Given the description of an element on the screen output the (x, y) to click on. 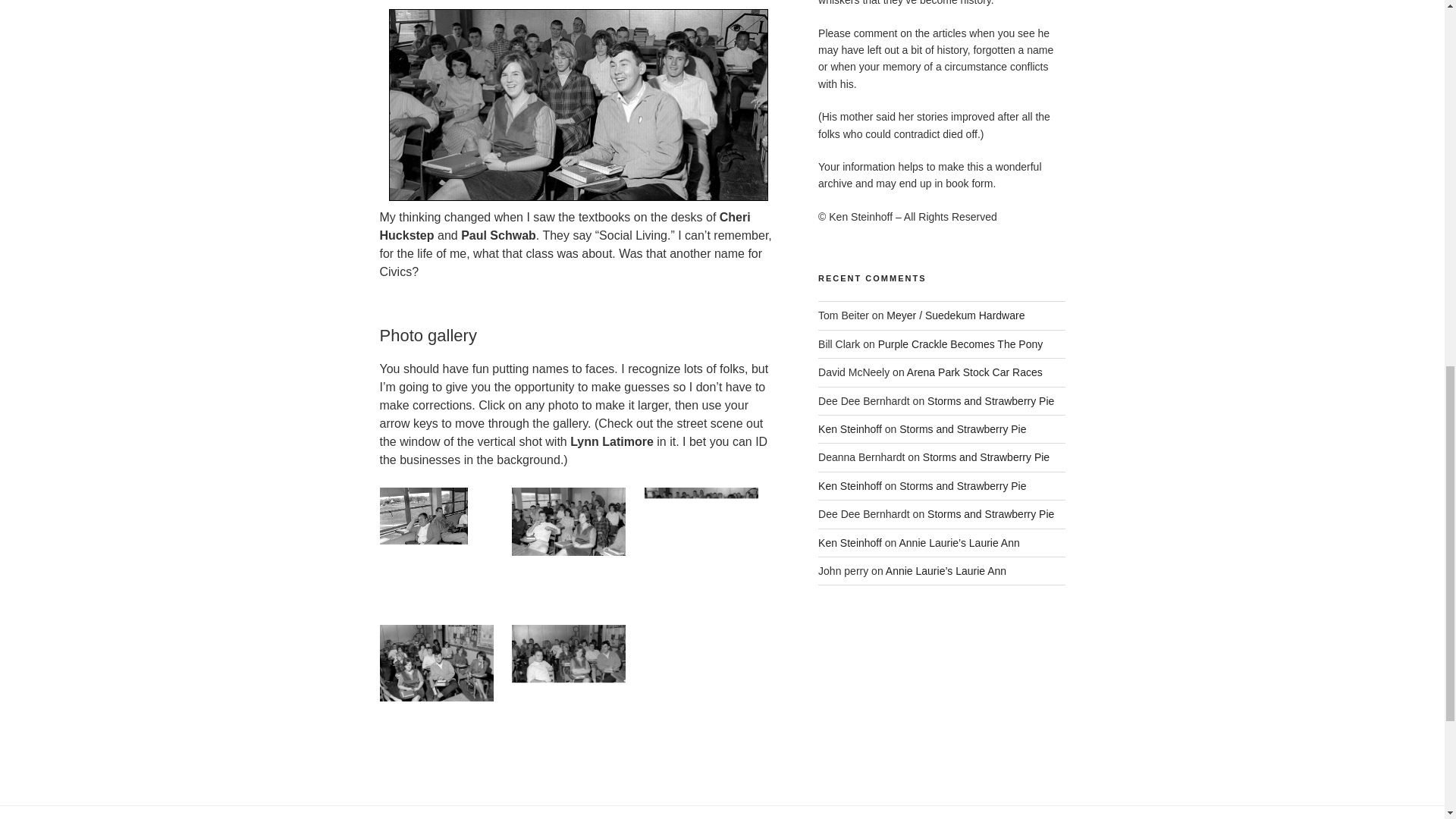
Storms and Strawberry Pie (962, 428)
Storms and Strawberry Pie (990, 400)
Ken Steinhoff (850, 542)
Ken Steinhoff (850, 428)
Arena Park Stock Car Races (974, 372)
Storms and Strawberry Pie (962, 485)
Purple Crackle Becomes The Pony (960, 344)
Ken Steinhoff (850, 485)
Storms and Strawberry Pie (990, 513)
Storms and Strawberry Pie (986, 457)
